Given the description of an element on the screen output the (x, y) to click on. 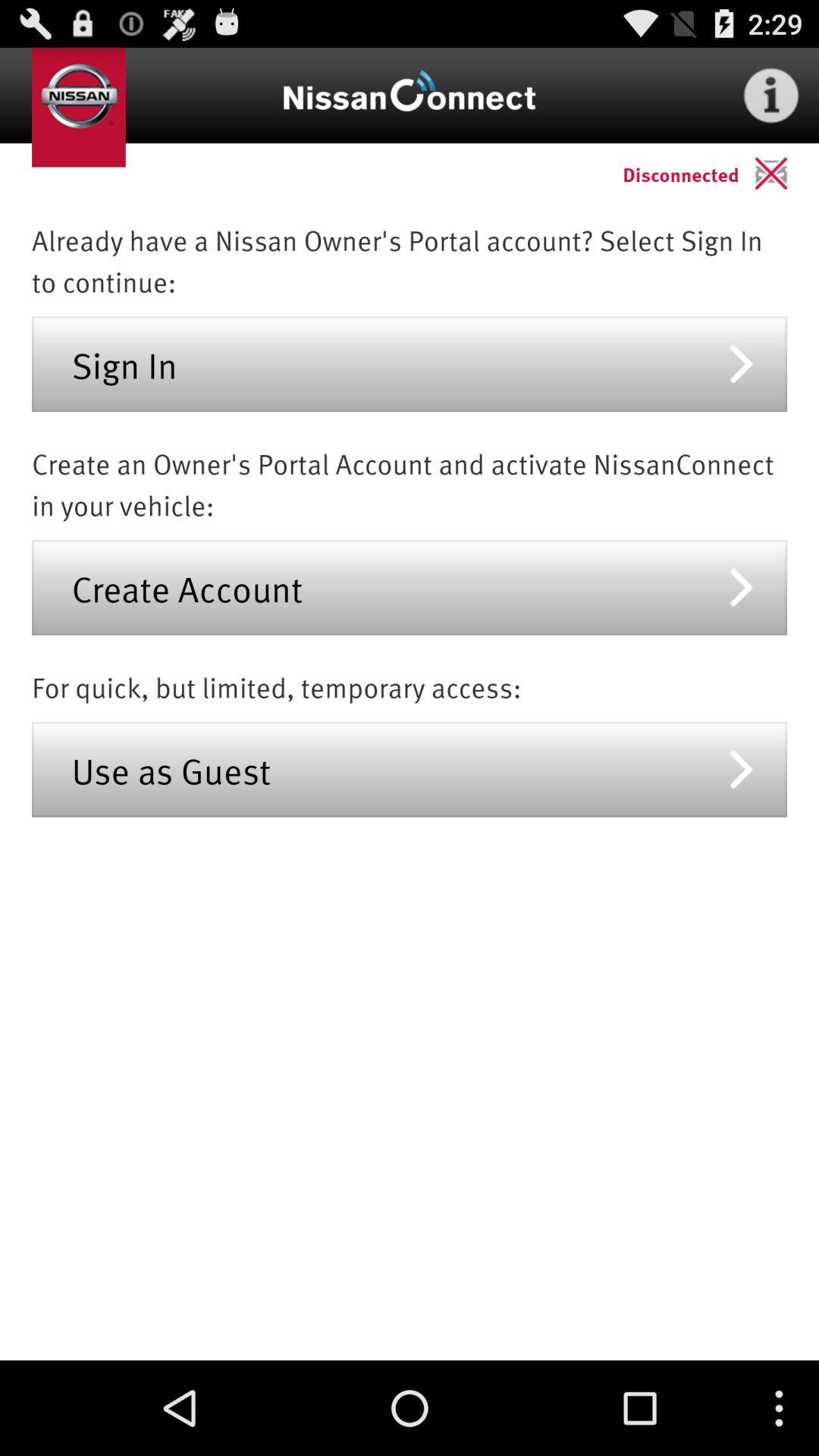
launch the icon to the right of disconnected (787, 173)
